Given the description of an element on the screen output the (x, y) to click on. 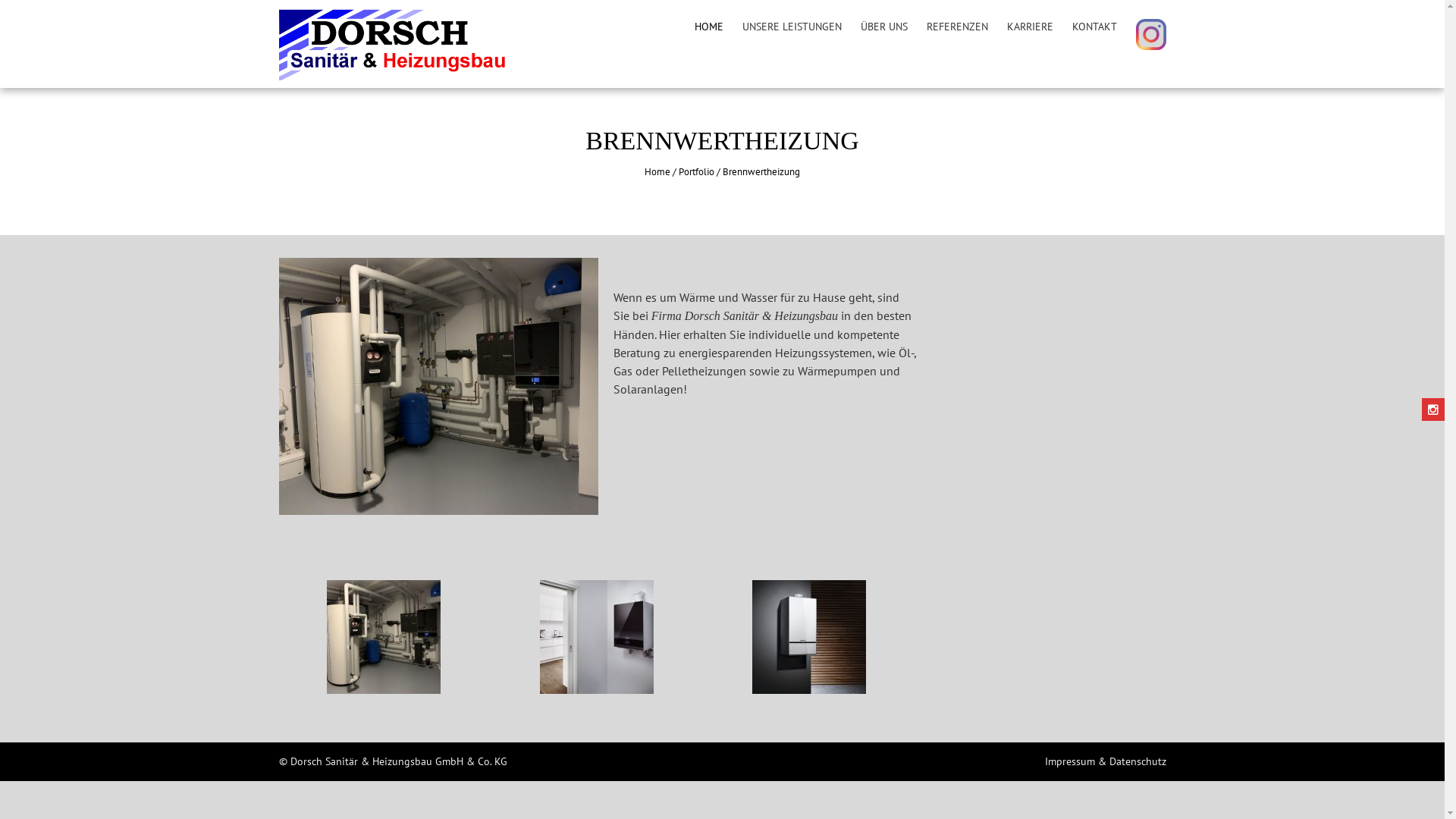
KARRIERE Element type: text (1030, 26)
REFERENZEN Element type: text (957, 26)
HOME Element type: text (708, 26)
Home Element type: text (657, 171)
KONTAKT Element type: text (1094, 26)
Impressum & Datenschutz Element type: text (1105, 761)
UNSERE LEISTUNGEN Element type: text (790, 26)
Portfolio Element type: text (696, 171)
